Given the description of an element on the screen output the (x, y) to click on. 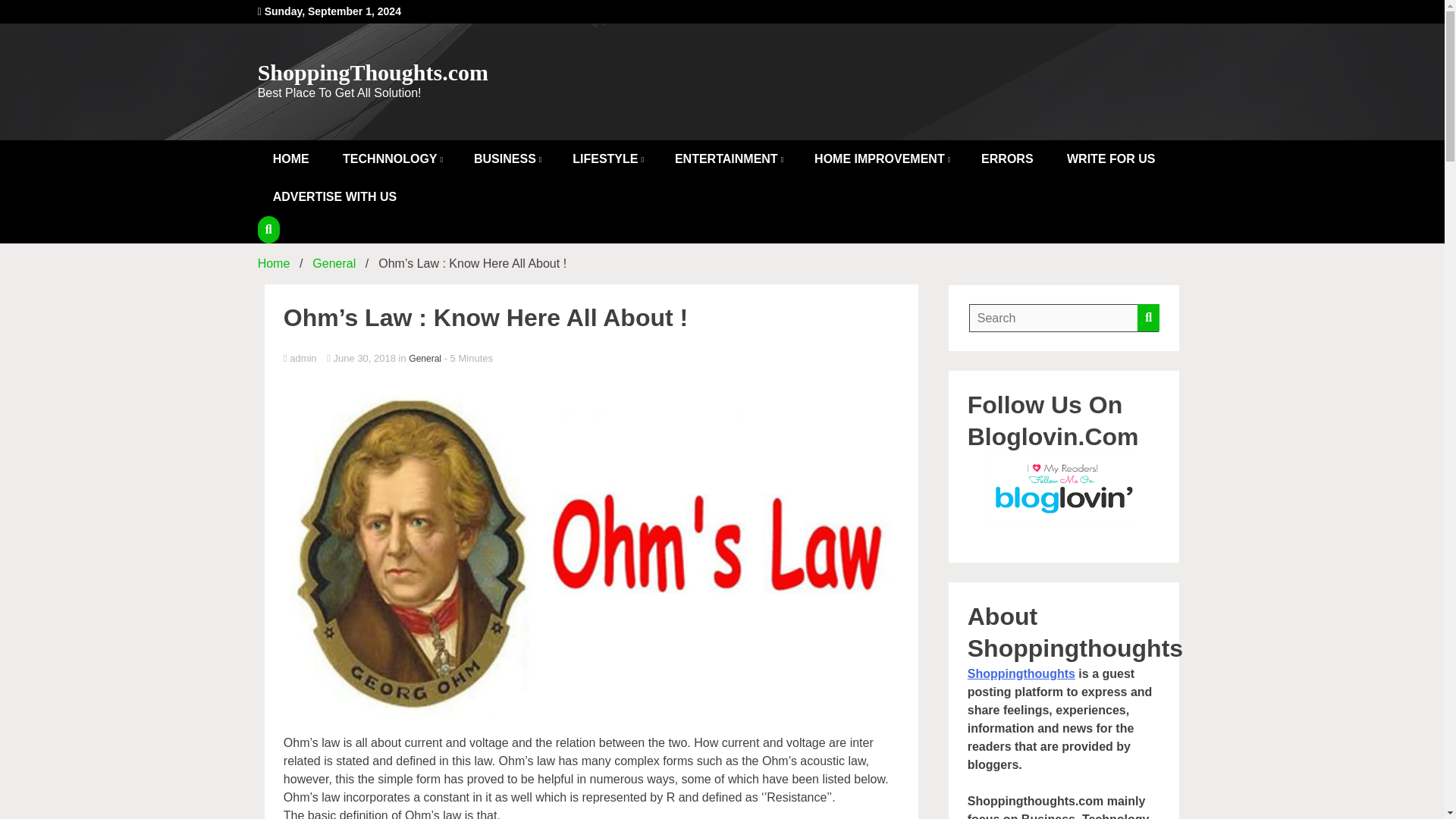
General (334, 263)
Estimated Reading Time of Article (468, 357)
ShoppingThoughts.com (372, 72)
ERRORS (1007, 159)
admin (591, 358)
BUSINESS (506, 159)
Home (273, 263)
ENTERTAINMENT (727, 159)
HOME IMPROVEMENT (880, 159)
HOME (290, 159)
